Given the description of an element on the screen output the (x, y) to click on. 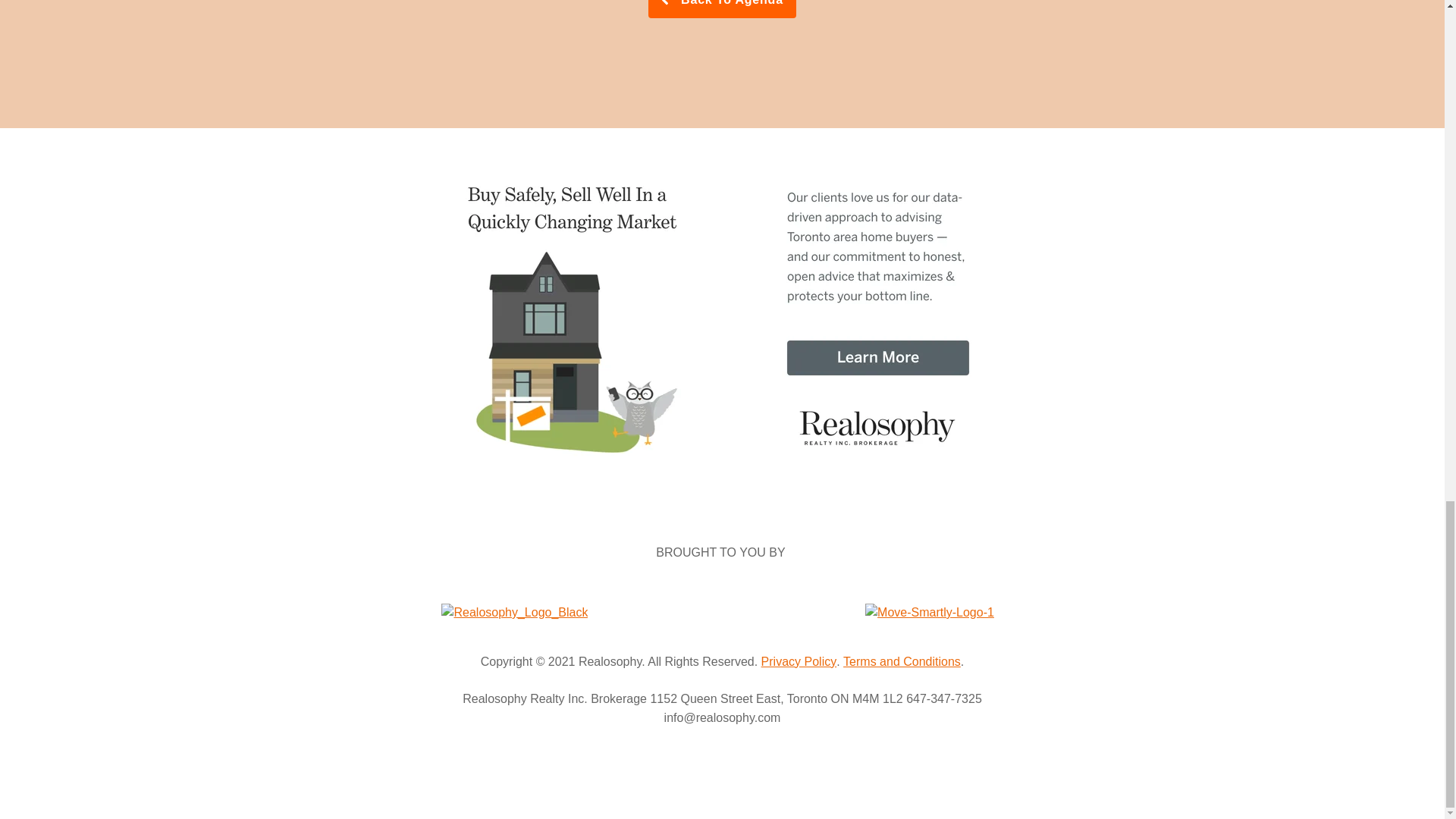
Move-Smartly-Logo-1 (929, 612)
Terms and Conditions (901, 661)
Privacy Policy (799, 661)
Back To Agenda (721, 9)
